Given the description of an element on the screen output the (x, y) to click on. 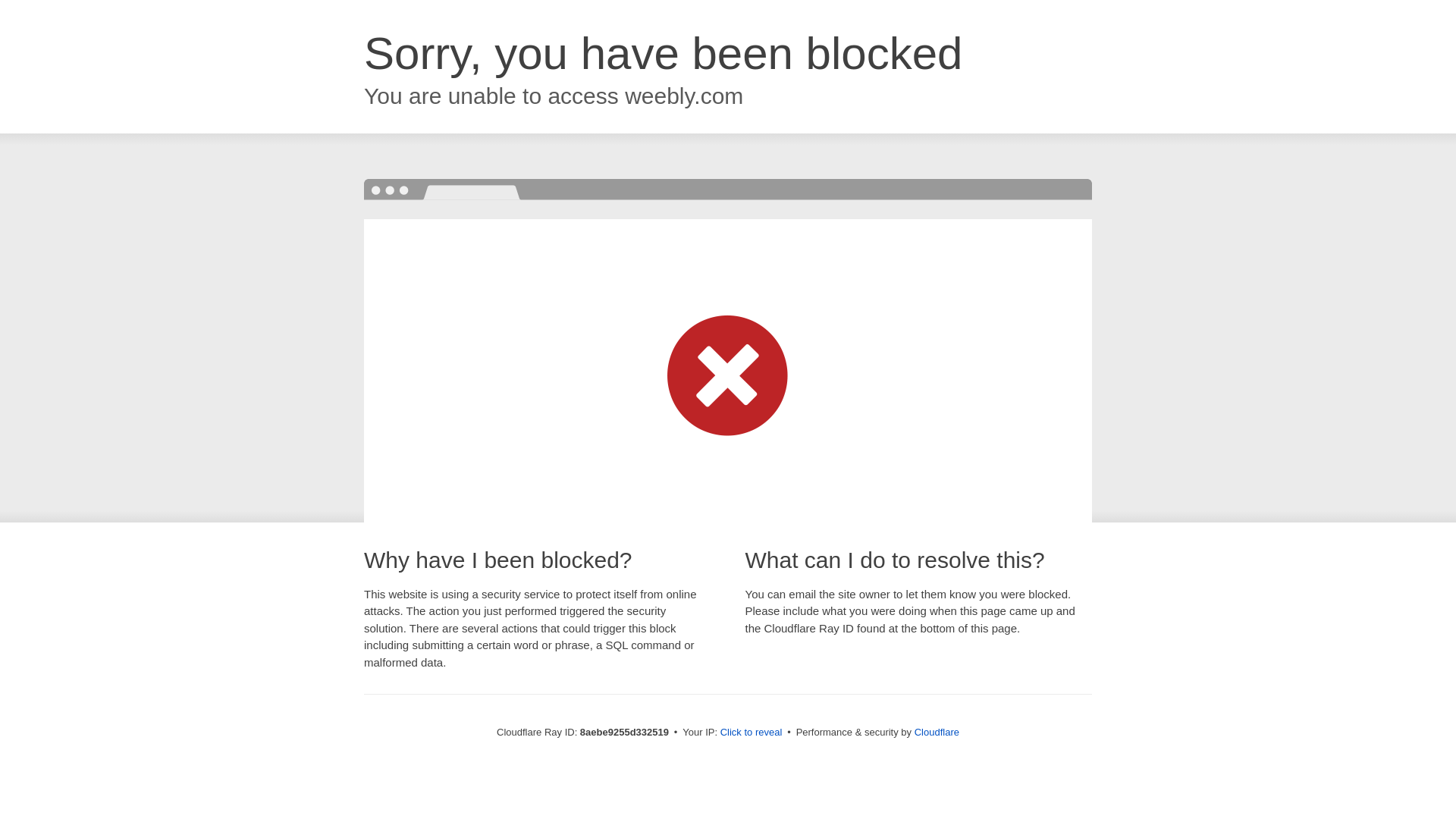
Cloudflare (936, 731)
Click to reveal (751, 732)
